Given the description of an element on the screen output the (x, y) to click on. 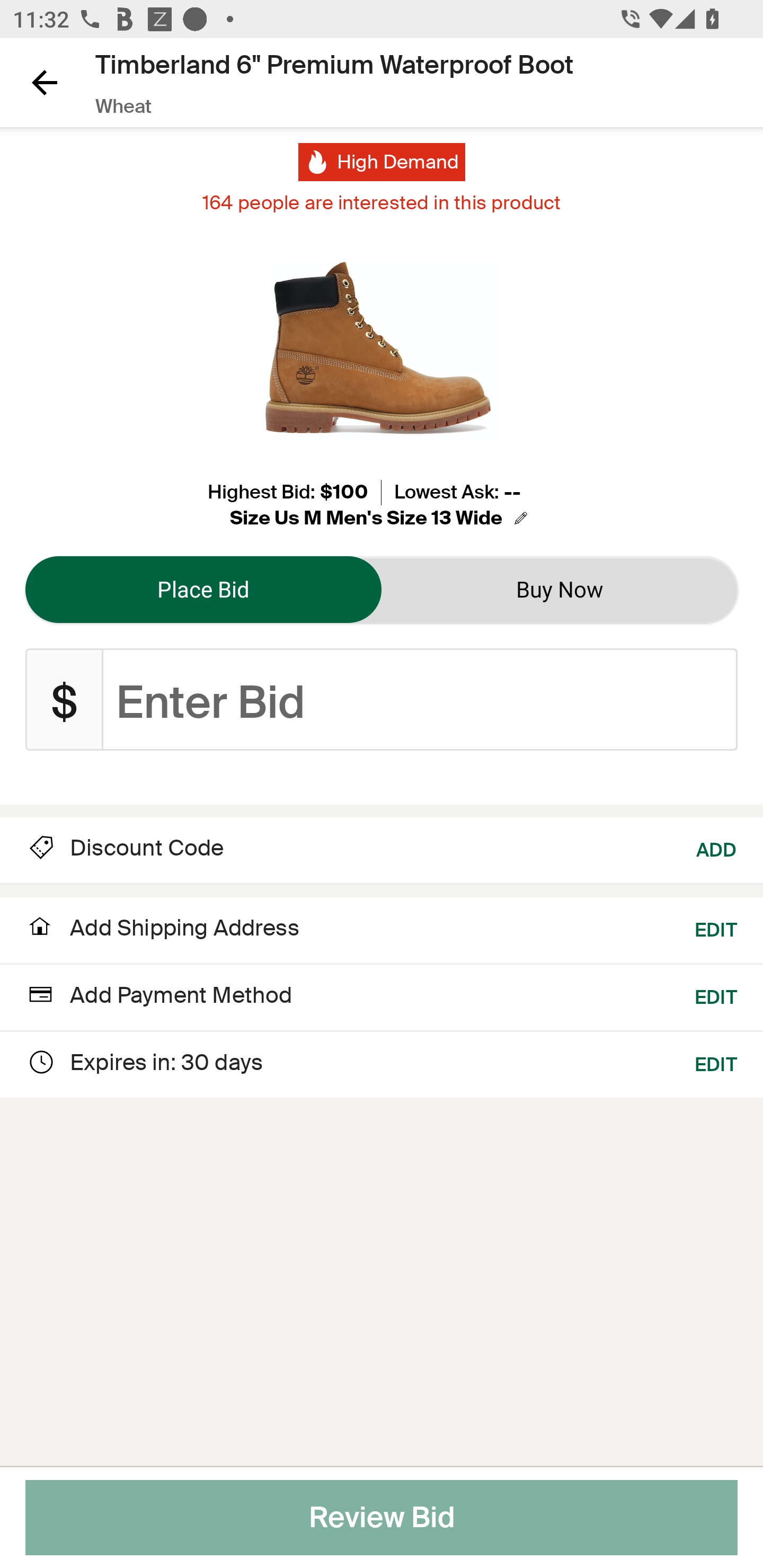
Navigate up (44, 82)
Sneaker Image (381, 350)
Size Us M Men's Size 13 Wide An image (381, 517)
Enter Bid (420, 700)
Add Discount Code Discount Code (124, 848)
ADD (717, 848)
Edit Payment Icon Add Shipping Address (162, 932)
EDIT (716, 927)
Edit Payment Icon Add Payment Method (158, 996)
EDIT (716, 993)
Edit Payment Icon Expires in: 30 days (144, 1062)
EDIT (716, 1062)
Review Bid (381, 1517)
